Given the description of an element on the screen output the (x, y) to click on. 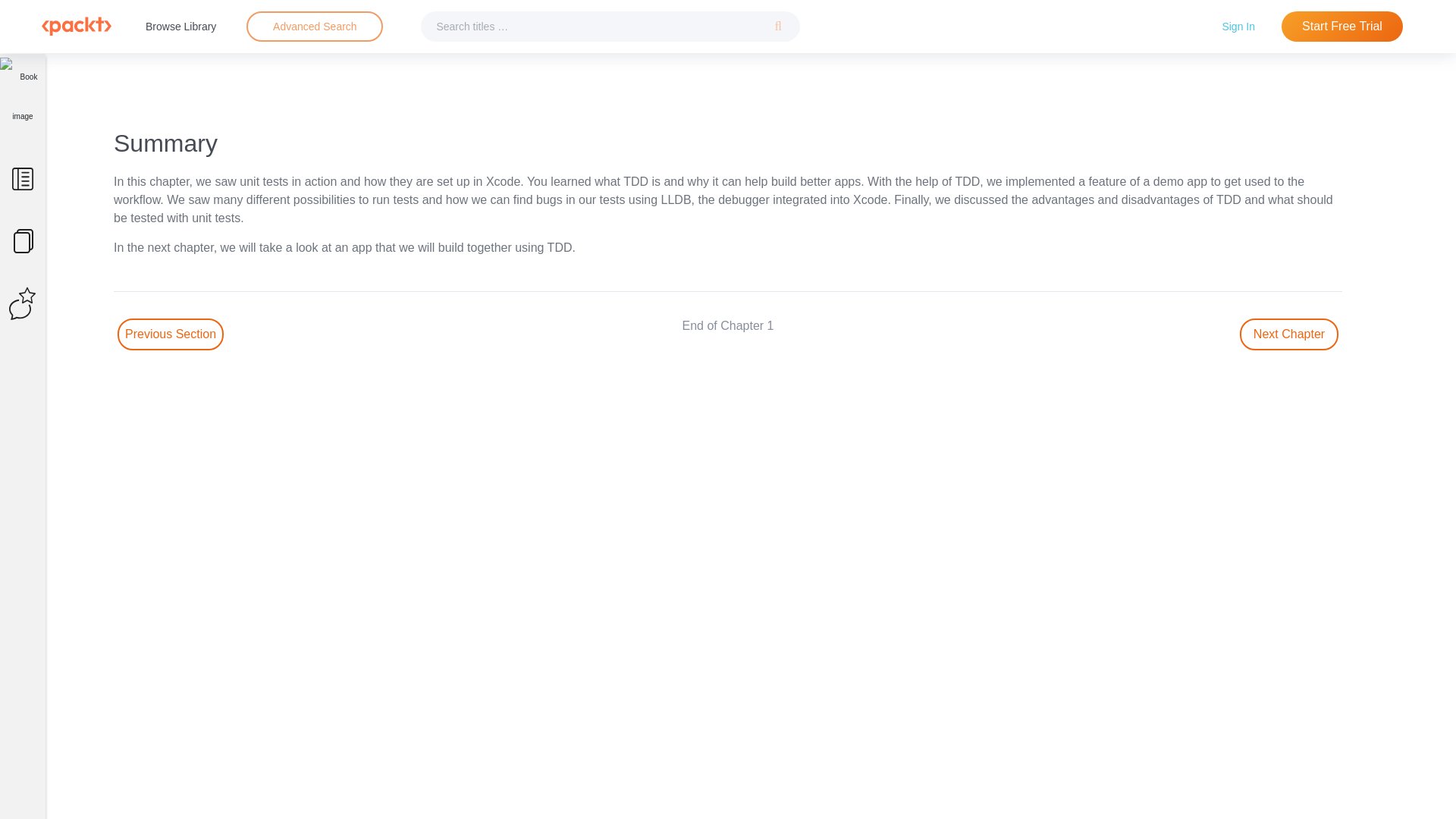
Go to next section (1289, 334)
Advanced search (314, 26)
Start Free Trial (1342, 26)
Go to Previous section (170, 334)
Advanced Search (315, 26)
Sign In (1238, 26)
Advanced Search (314, 26)
Browse Library (180, 26)
